Given the description of an element on the screen output the (x, y) to click on. 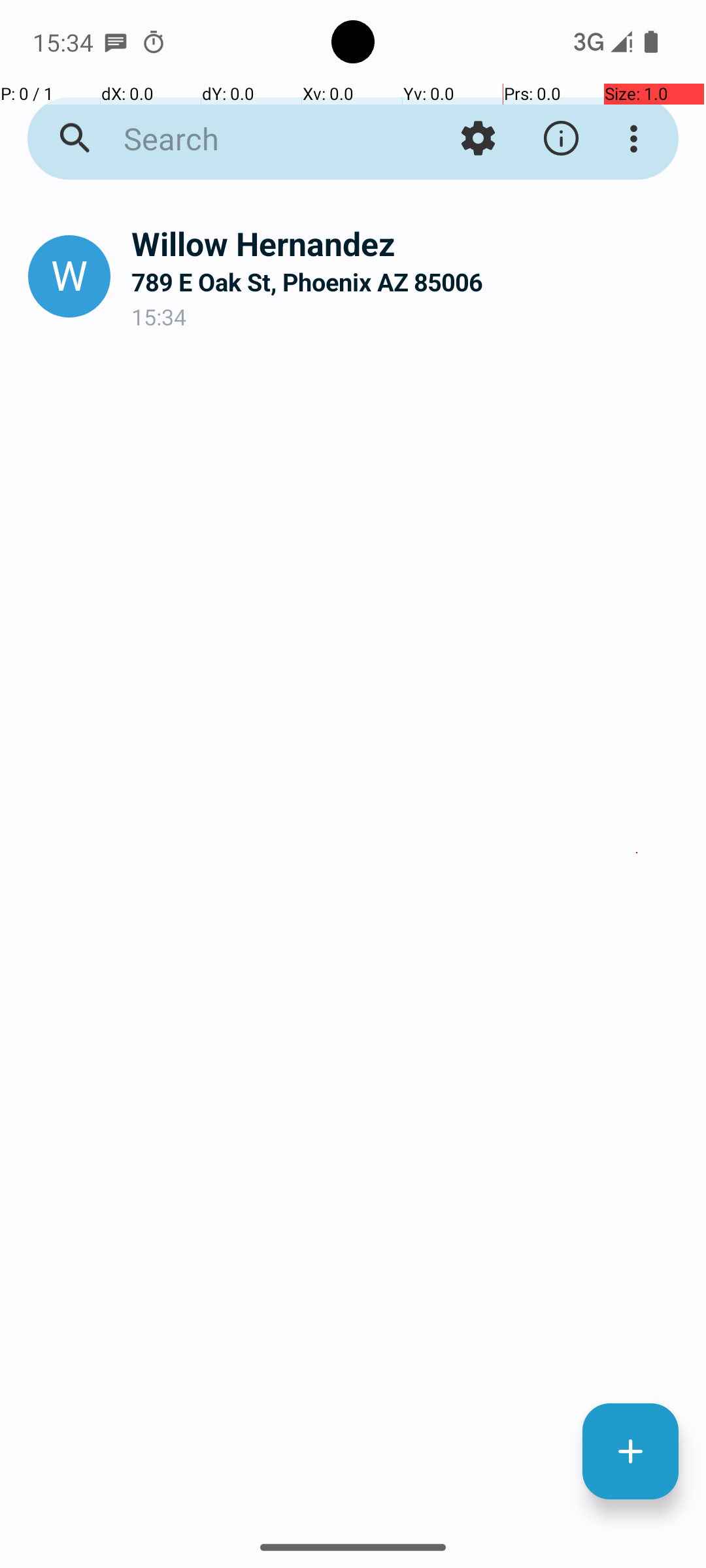
Willow Hernandez Element type: android.widget.TextView (408, 242)
789 E Oak St, Phoenix AZ 85006 Element type: android.widget.TextView (408, 281)
SMS Messenger notification: Willow Hernandez Element type: android.widget.ImageView (115, 41)
